Given the description of an element on the screen output the (x, y) to click on. 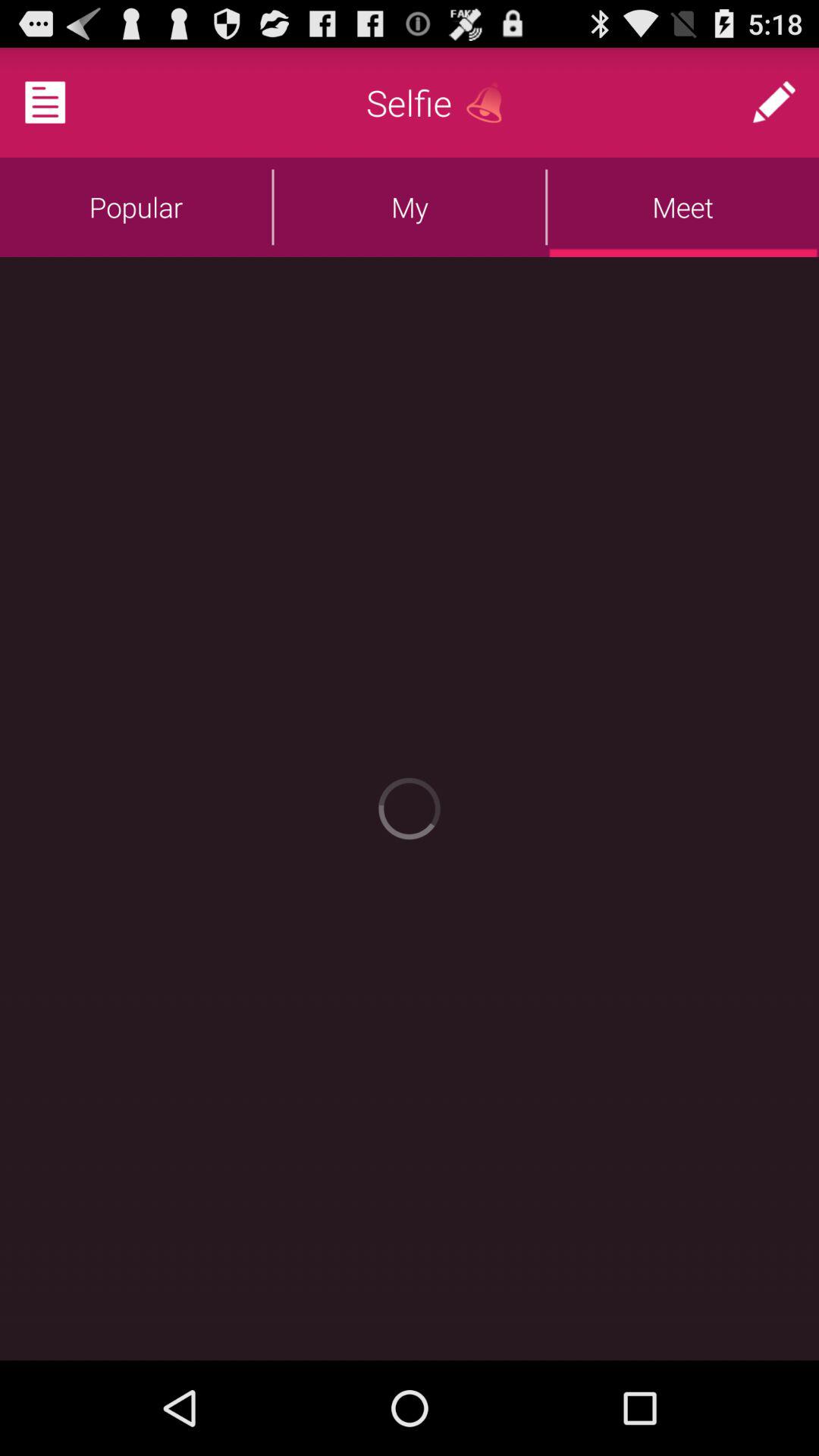
write option (773, 102)
